Given the description of an element on the screen output the (x, y) to click on. 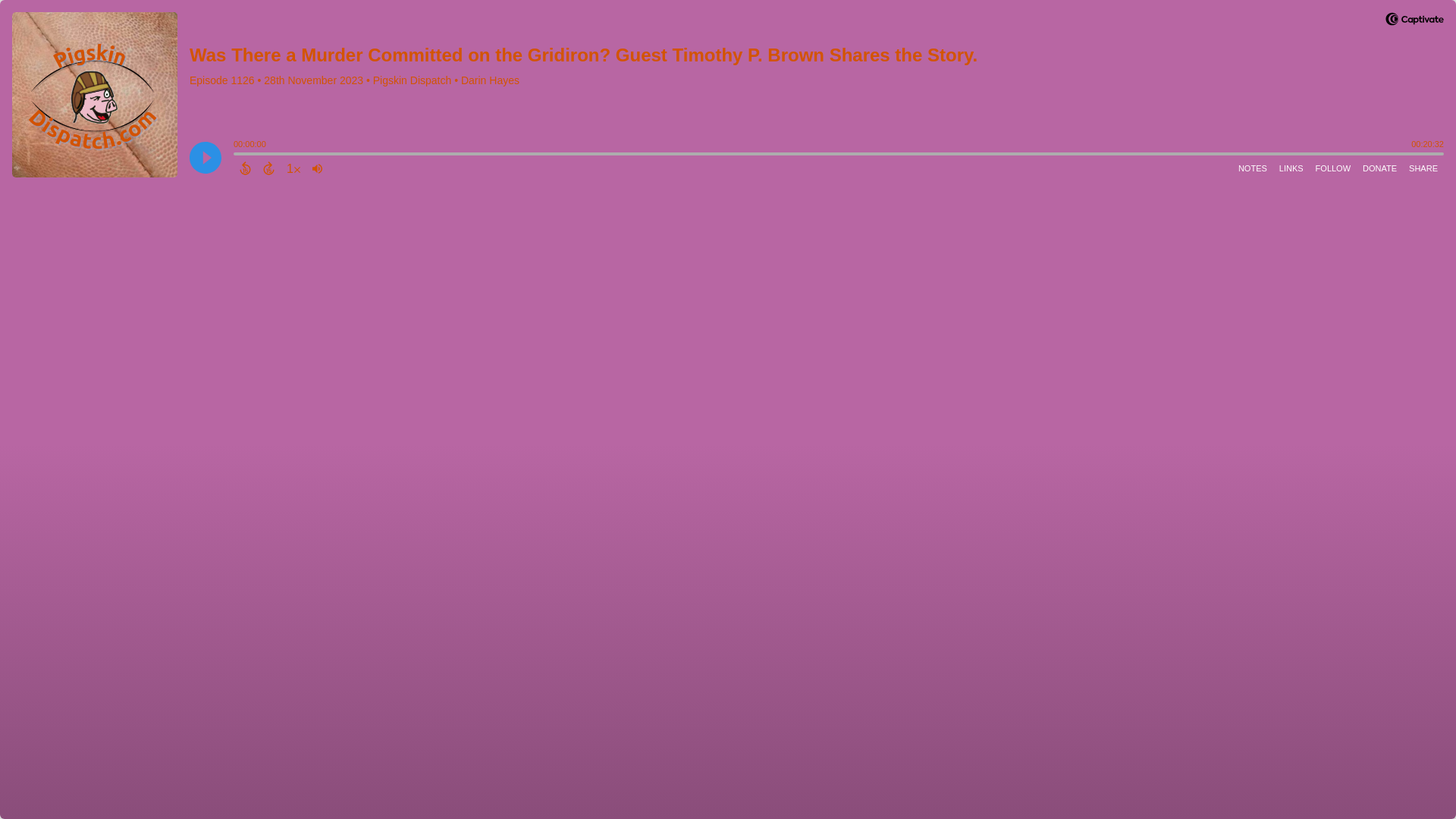
SHARE (1423, 167)
NOTES (1251, 167)
DONATE (1379, 167)
1 (293, 167)
FOLLOW (1332, 167)
LINKS (1290, 167)
